Given the description of an element on the screen output the (x, y) to click on. 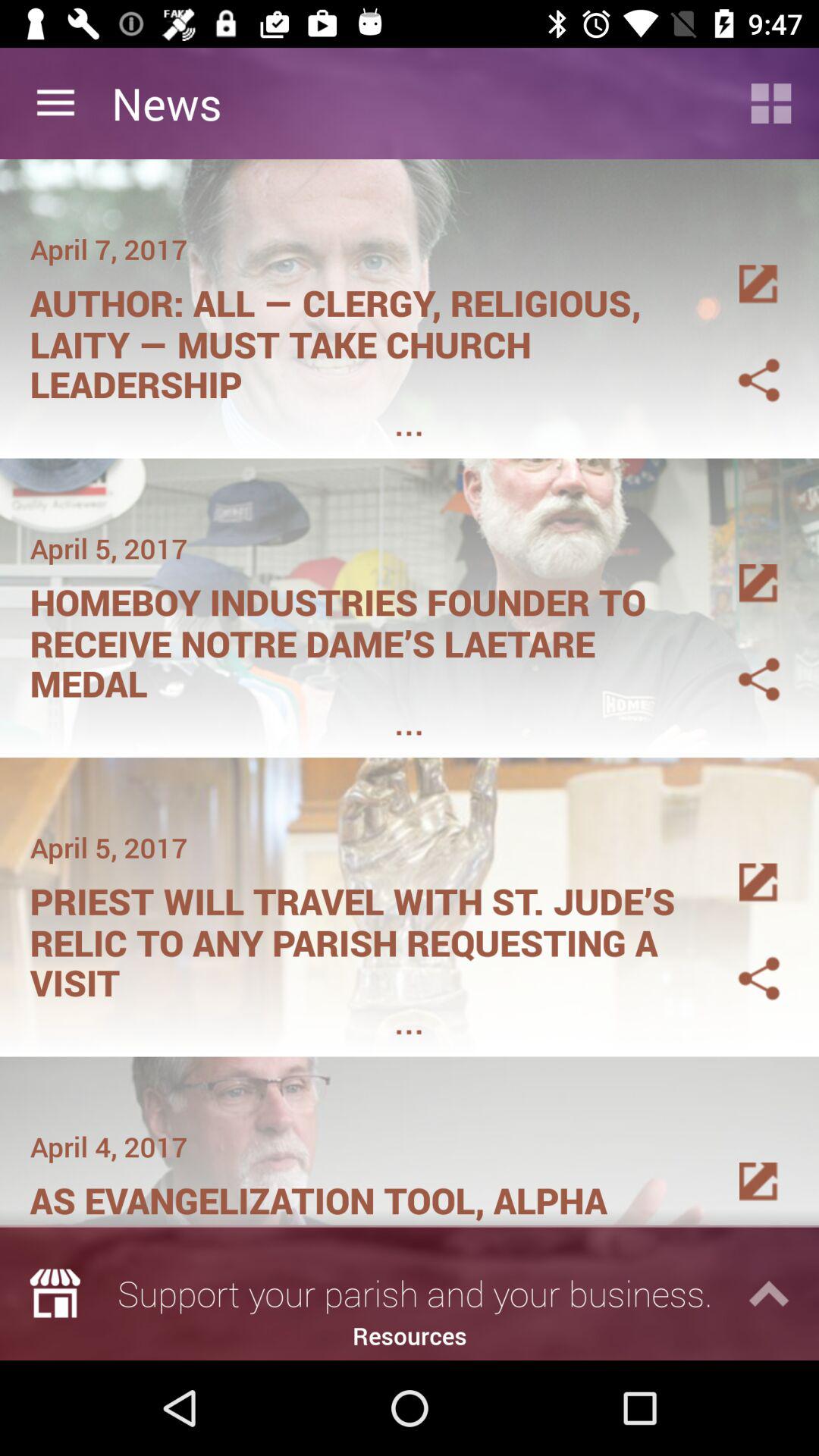
save tha gallry image (740, 362)
